Given the description of an element on the screen output the (x, y) to click on. 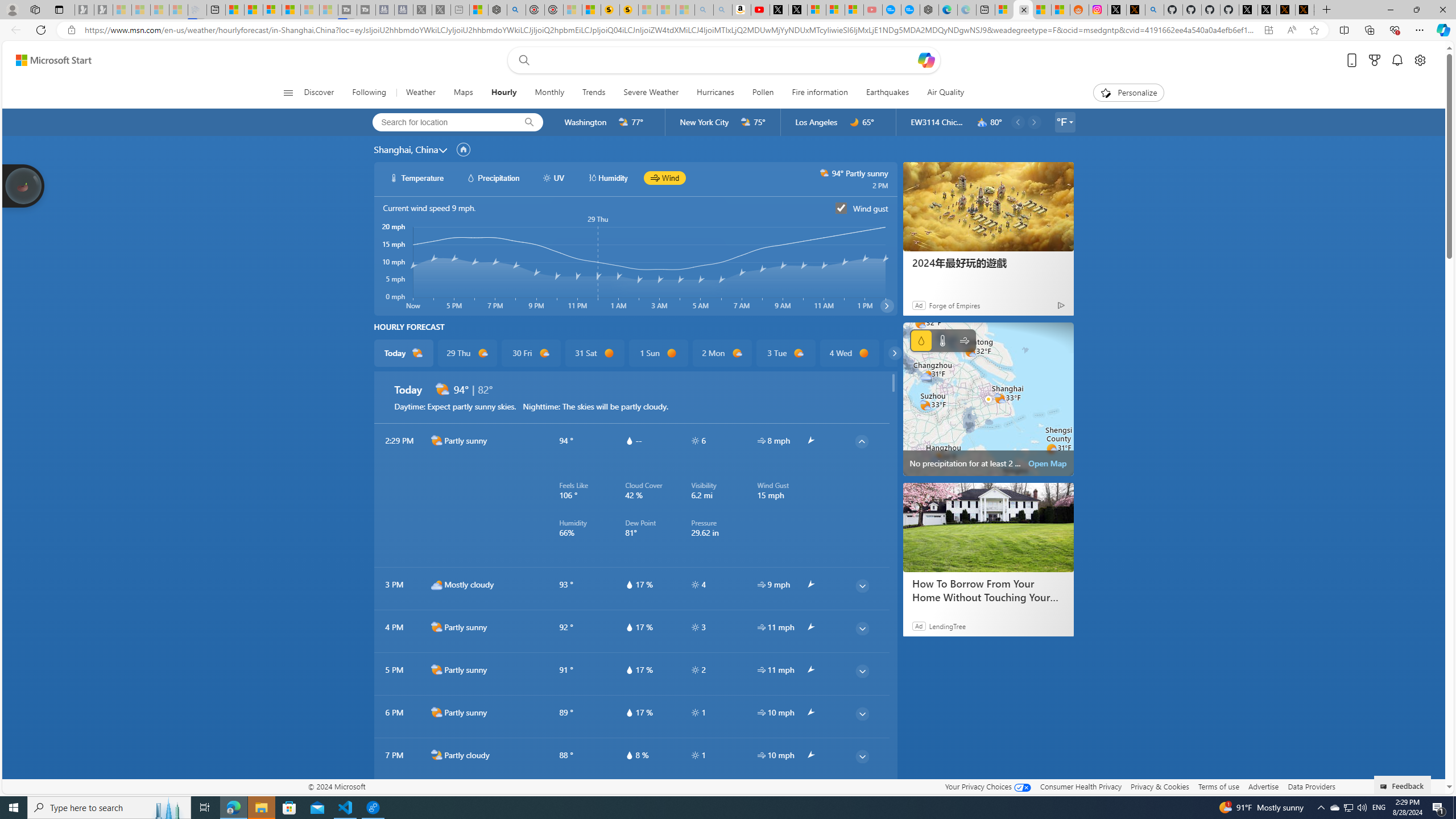
locationName/setHomeLocation (462, 149)
Opinion: Op-Ed and Commentary - USA TODAY (891, 9)
Newsletter Sign Up - Sleeping (102, 9)
Search for location (440, 122)
hourlyChart/temperatureWhite Temperature (416, 178)
common/thinArrow (861, 798)
